Given the description of an element on the screen output the (x, y) to click on. 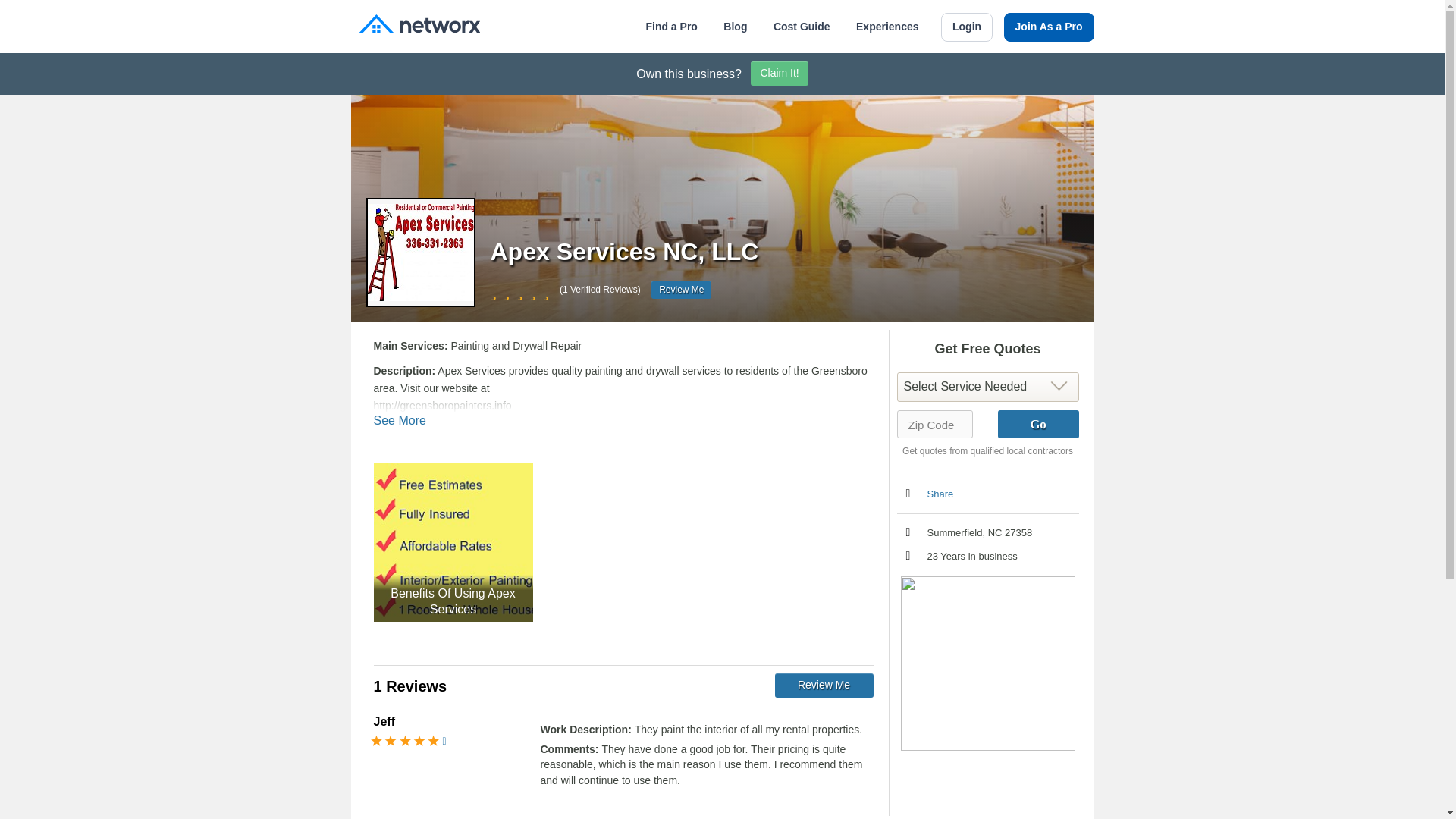
Blog (734, 26)
Find a Pro (670, 26)
Benefits Of Using Apex Services (452, 541)
Cost Guide (801, 26)
Networx (418, 25)
Experiences (887, 26)
Join As a Pro (1049, 27)
Claim It! (779, 73)
Review Me (680, 289)
Go (1037, 424)
Go (1037, 424)
Review Me (823, 685)
Login (966, 27)
